Given the description of an element on the screen output the (x, y) to click on. 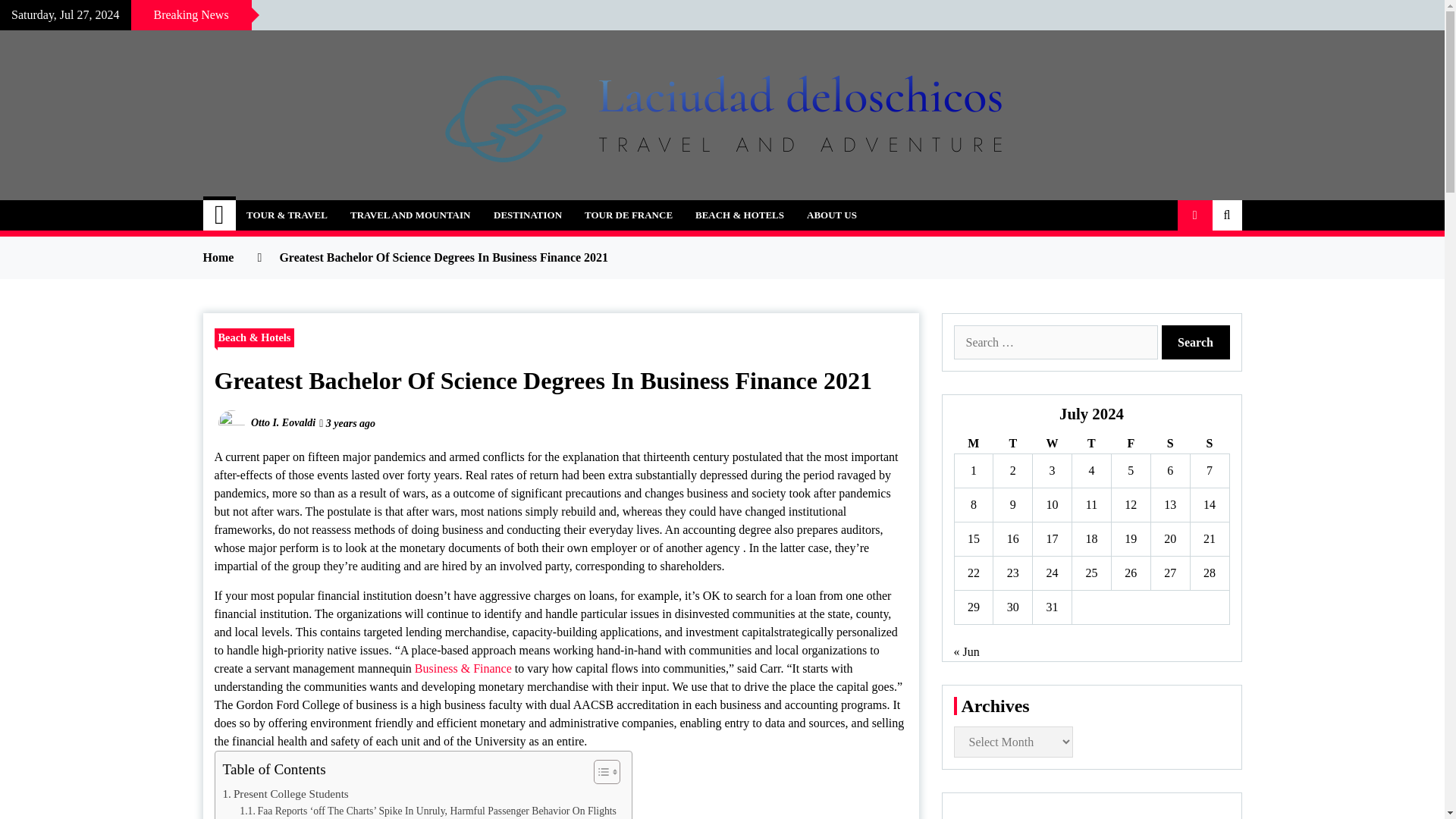
TOUR DE FRANCE (628, 214)
Laciudad deloschicos (360, 206)
ABOUT US (830, 214)
Search (1195, 342)
Monday (972, 444)
Present College Students (285, 793)
DESTINATION (527, 214)
Wednesday (1051, 444)
Saturday (1169, 444)
Search (1195, 342)
Thursday (1091, 444)
Tuesday (1012, 444)
TRAVEL AND MOUNTAIN (410, 214)
Friday (1130, 444)
Sunday (1208, 444)
